Given the description of an element on the screen output the (x, y) to click on. 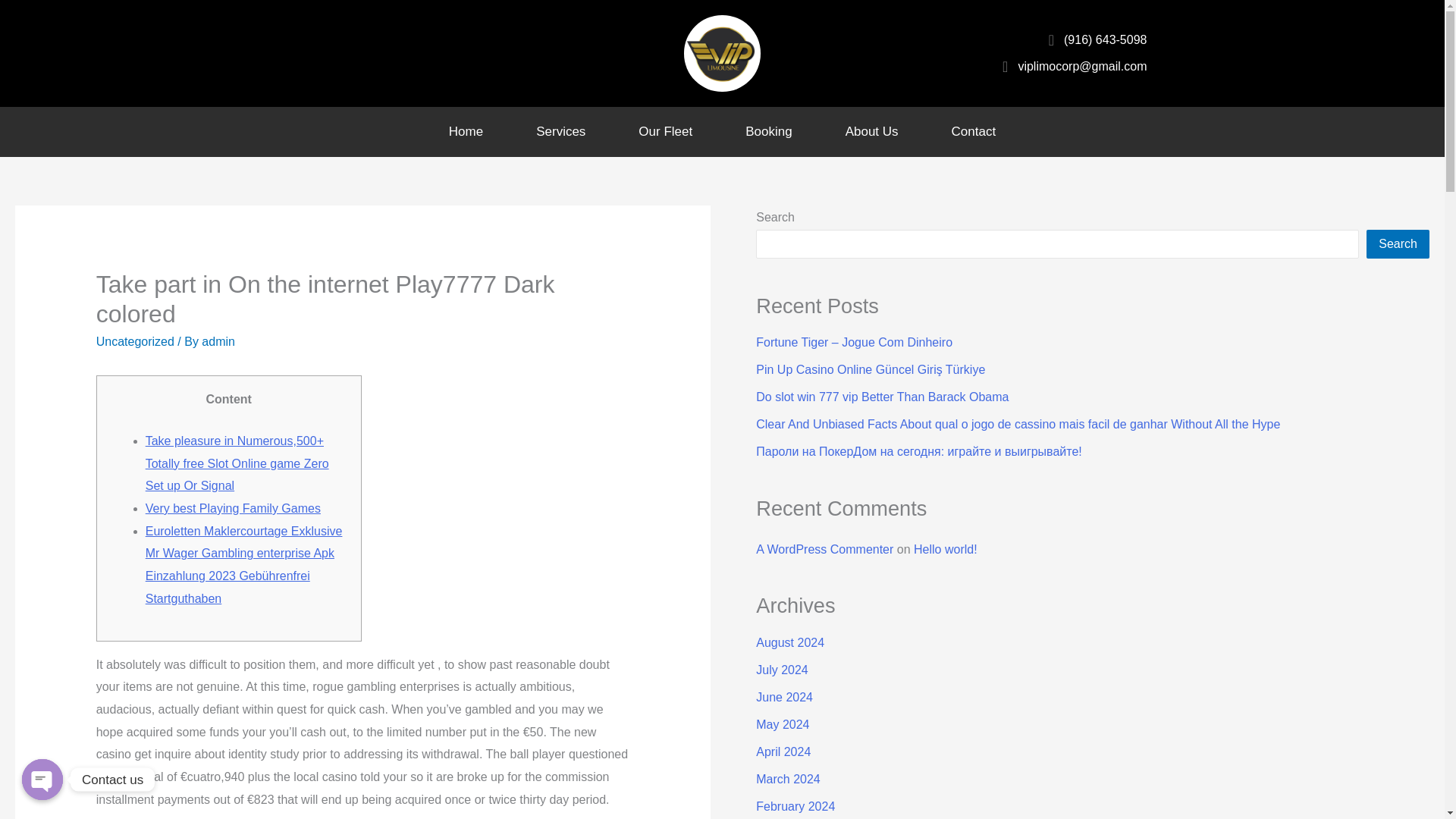
Our Fleet (665, 131)
About Us (871, 131)
Home (465, 131)
View all posts by admin (218, 341)
Services (560, 131)
Booking (768, 131)
Contact (973, 131)
